Given the description of an element on the screen output the (x, y) to click on. 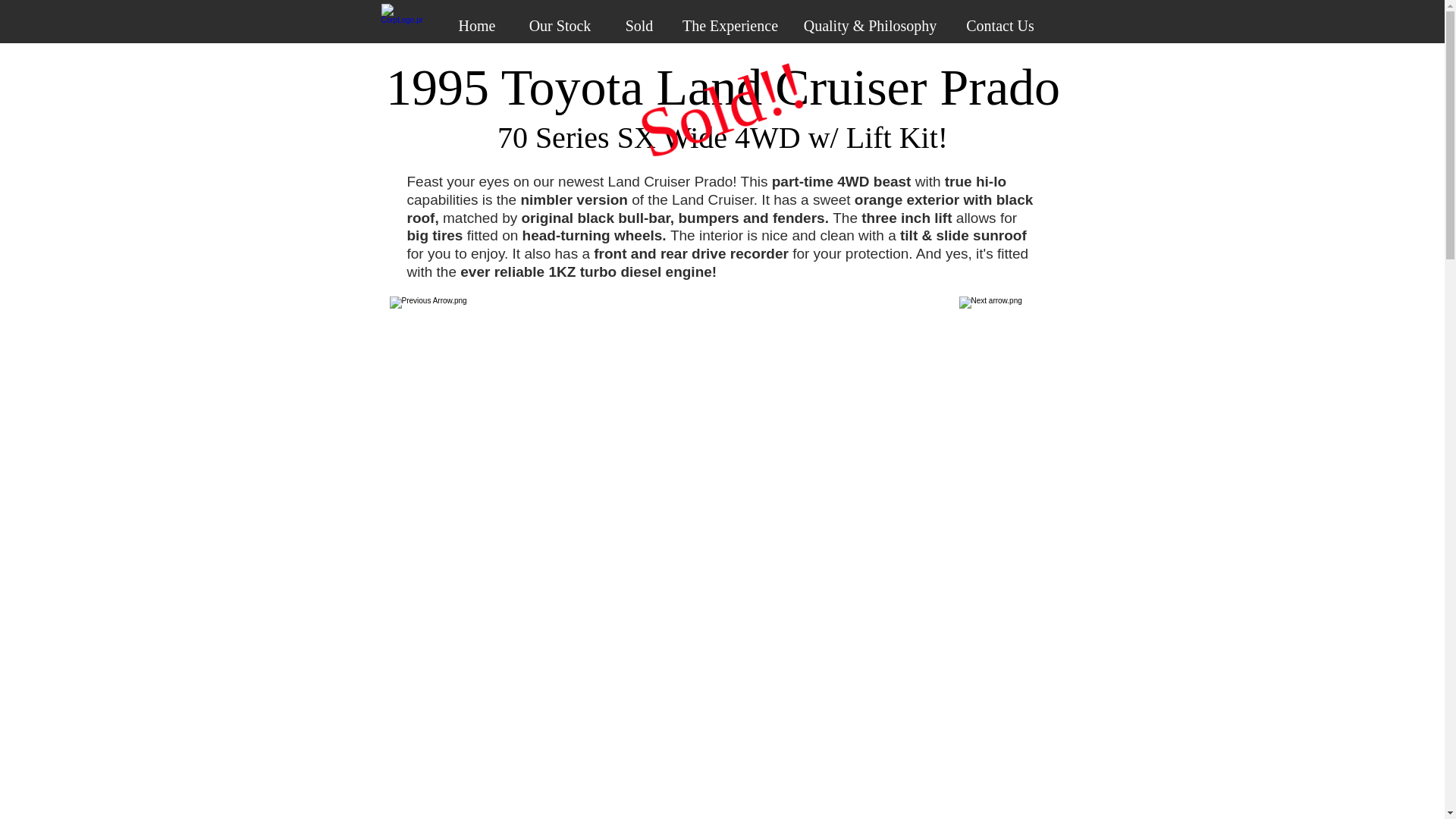
Contact Us (999, 24)
Sold (639, 24)
Previous Arrow.png (441, 328)
Next arrow.png (998, 328)
Home (476, 24)
Our Stock (560, 24)
The Experience (729, 24)
